Given the description of an element on the screen output the (x, y) to click on. 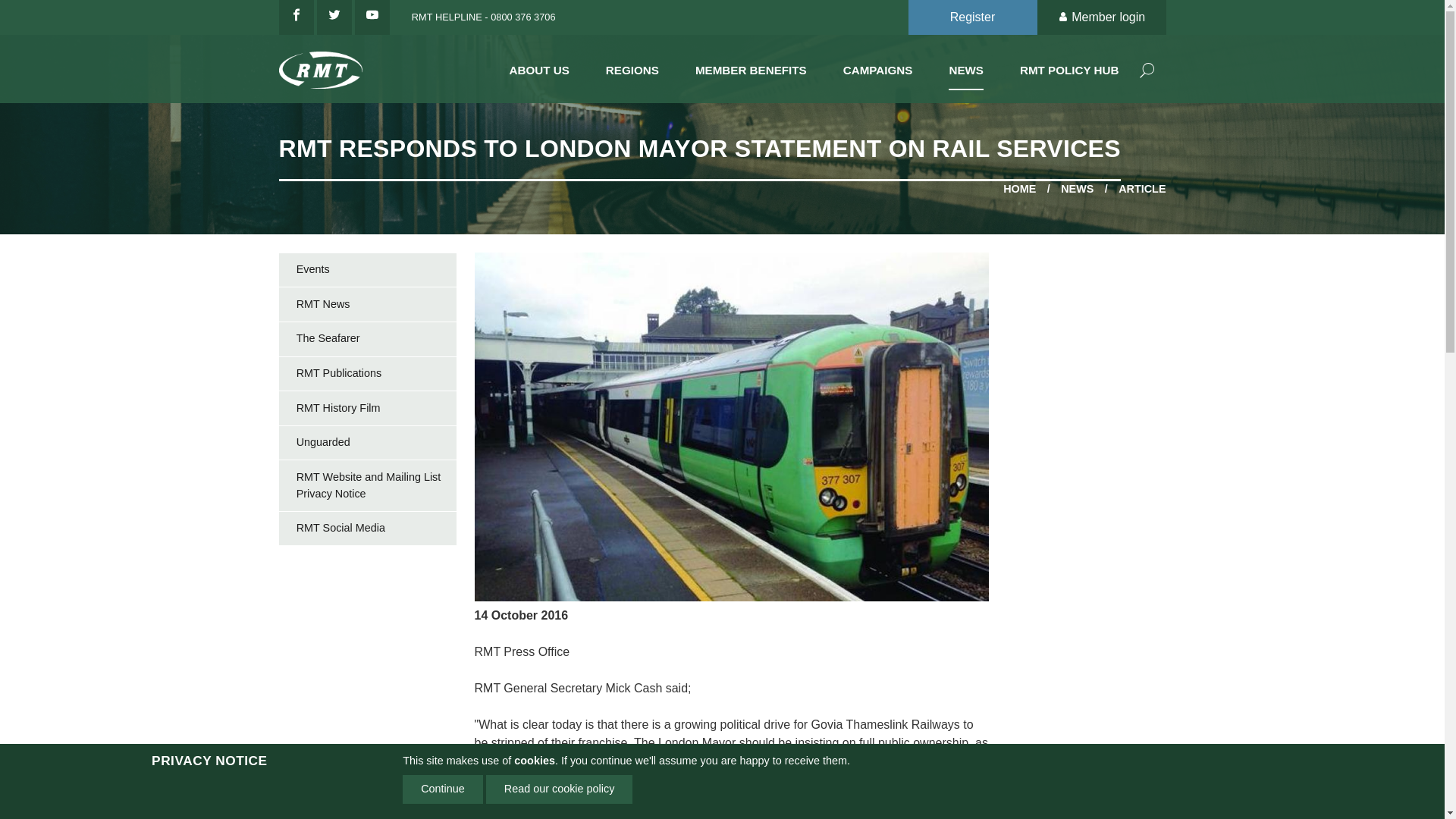
user (1064, 17)
Like us on Facebook (296, 17)
CAMPAIGNS (877, 67)
REGIONS (632, 67)
ABOUT US (539, 67)
Register (972, 17)
Follow us on Twitter (334, 17)
HOME (1019, 189)
Read our cookie policy (559, 788)
NEWS (1077, 189)
RMT HELPLINE - 0800 376 3706 (479, 16)
Member login (1101, 17)
RMT POLICY HUB (1069, 67)
See our channel on YouTube (372, 17)
MEMBER BENEFITS (750, 67)
